Given the description of an element on the screen output the (x, y) to click on. 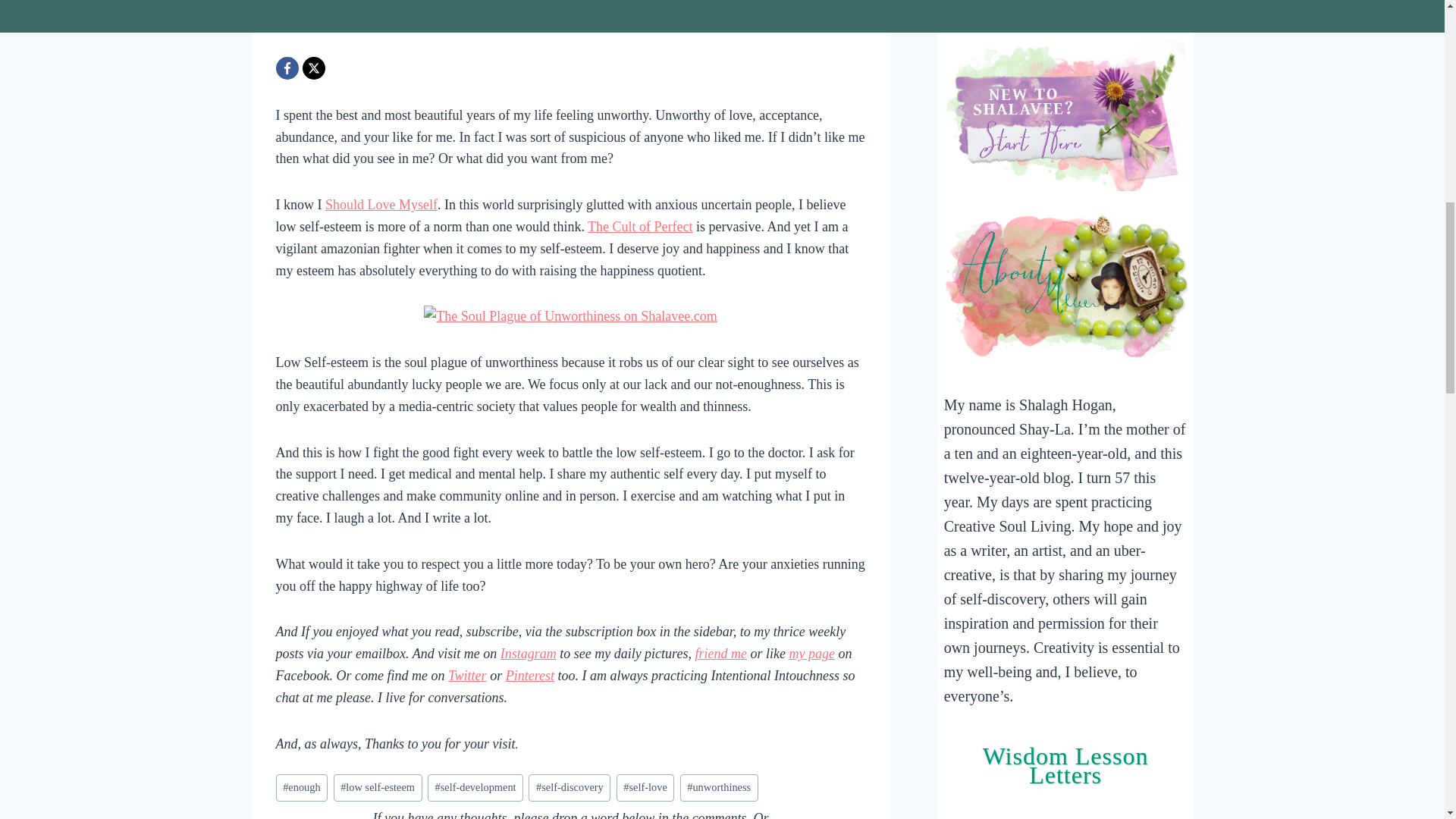
my page (811, 653)
self-development (475, 787)
Pinterest (529, 675)
enough (302, 787)
Twitter (467, 675)
Instagram (528, 653)
self-love (645, 787)
Should Love Myself (381, 204)
self-discovery (569, 787)
unworthiness (718, 787)
